Given the description of an element on the screen output the (x, y) to click on. 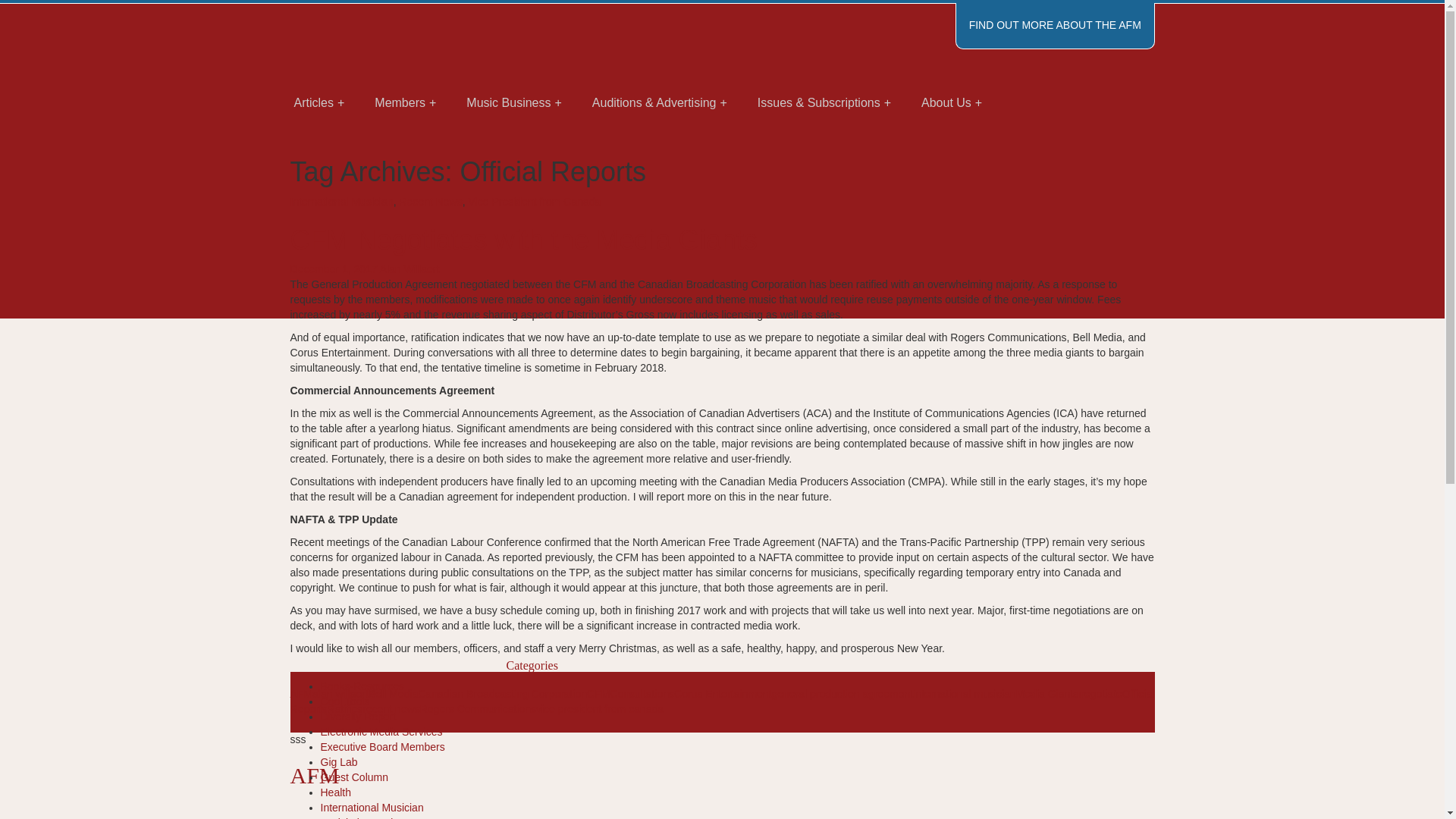
Members (405, 78)
Articles (319, 78)
Music Business (513, 78)
About Us (951, 78)
